Given the description of an element on the screen output the (x, y) to click on. 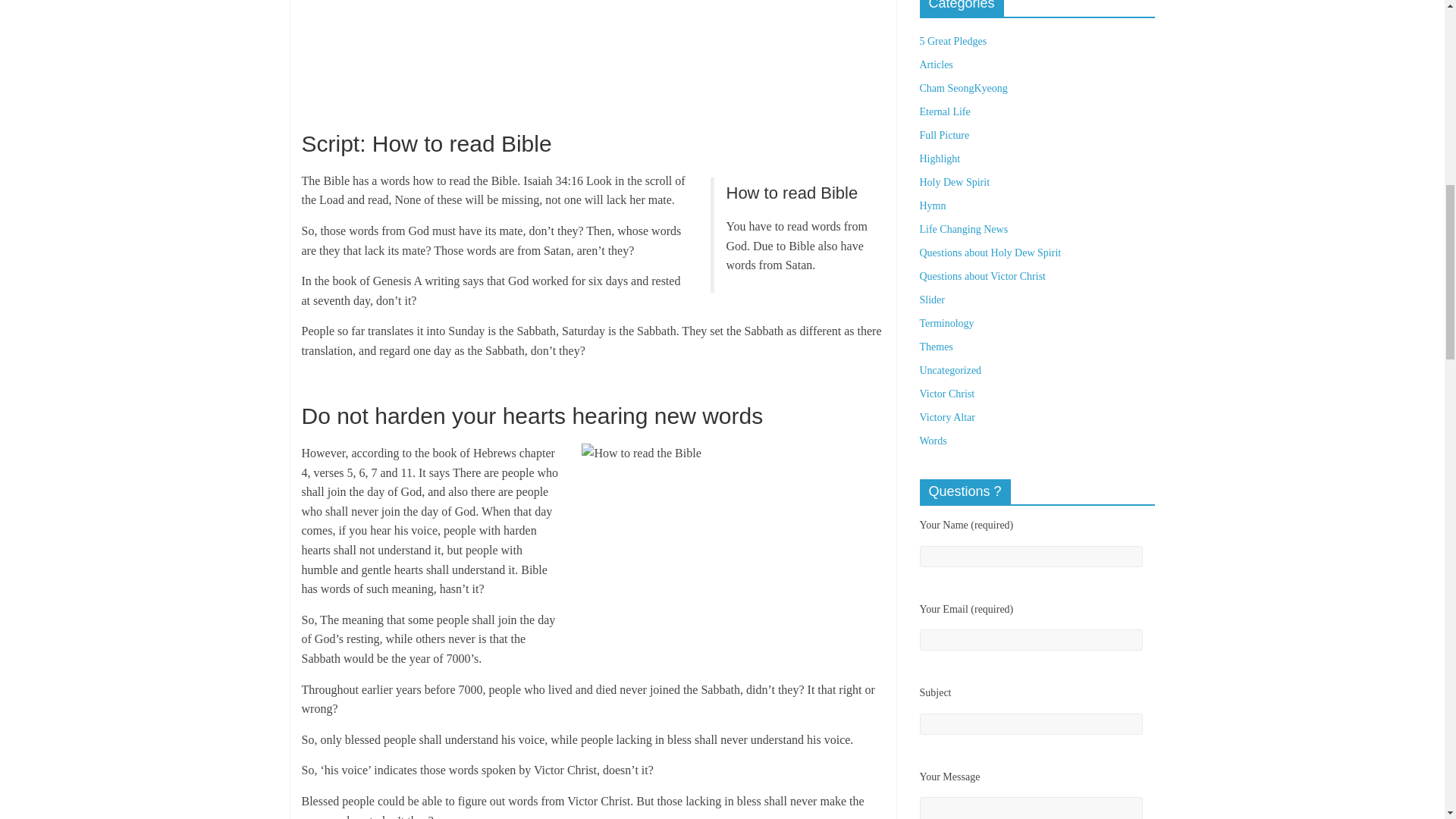
Eternal Life (943, 111)
Cham SeongKyeong (962, 88)
Highlight (938, 158)
Full Picture (943, 134)
5 Great Pledges (952, 41)
Articles (935, 64)
